Given the description of an element on the screen output the (x, y) to click on. 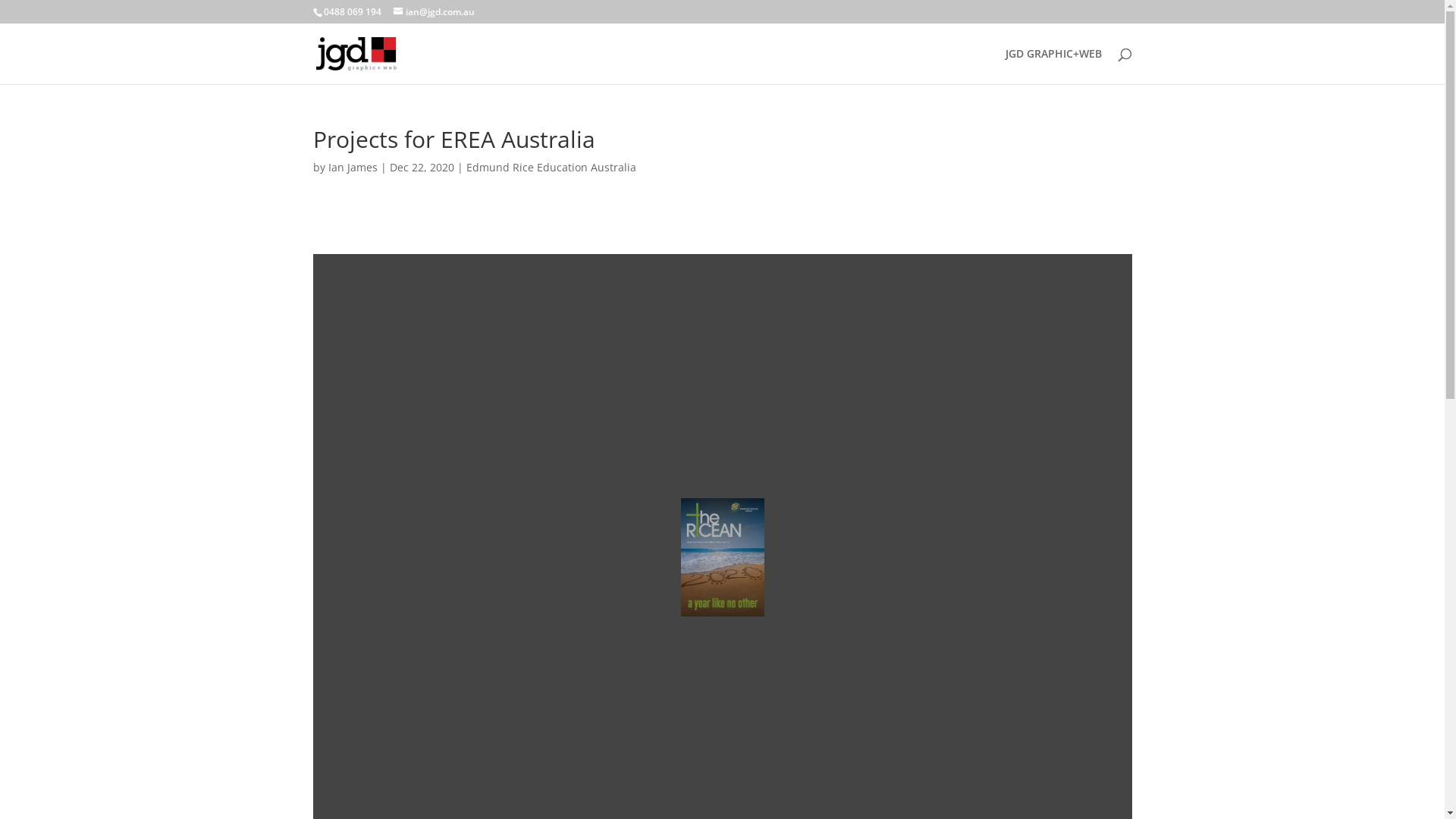
Ian James Element type: text (351, 167)
Edmund Rice Education Australia Element type: text (550, 167)
ian@jgd.com.au Element type: text (432, 11)
JGD GRAPHIC+WEB Element type: text (1053, 66)
